Given the description of an element on the screen output the (x, y) to click on. 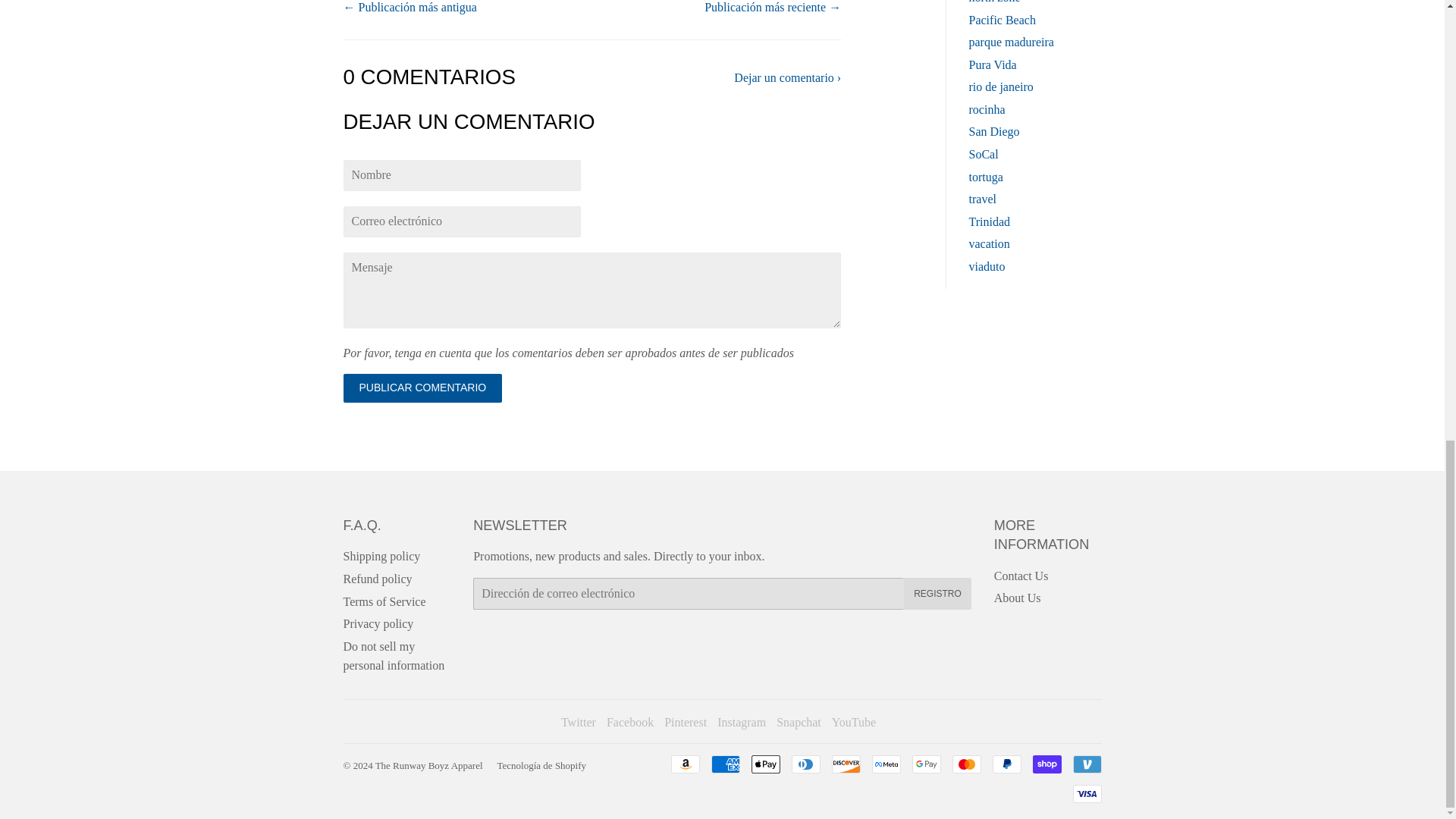
Diners Club (806, 764)
Amazon (683, 764)
Show articles tagged north zone (994, 2)
Show articles tagged parque madureira (1011, 42)
American Express (725, 764)
Visa (1085, 793)
Meta Pay (886, 764)
Mastercard (966, 764)
Show articles tagged Pacific Beach (1002, 19)
Apple Pay (764, 764)
